Given the description of an element on the screen output the (x, y) to click on. 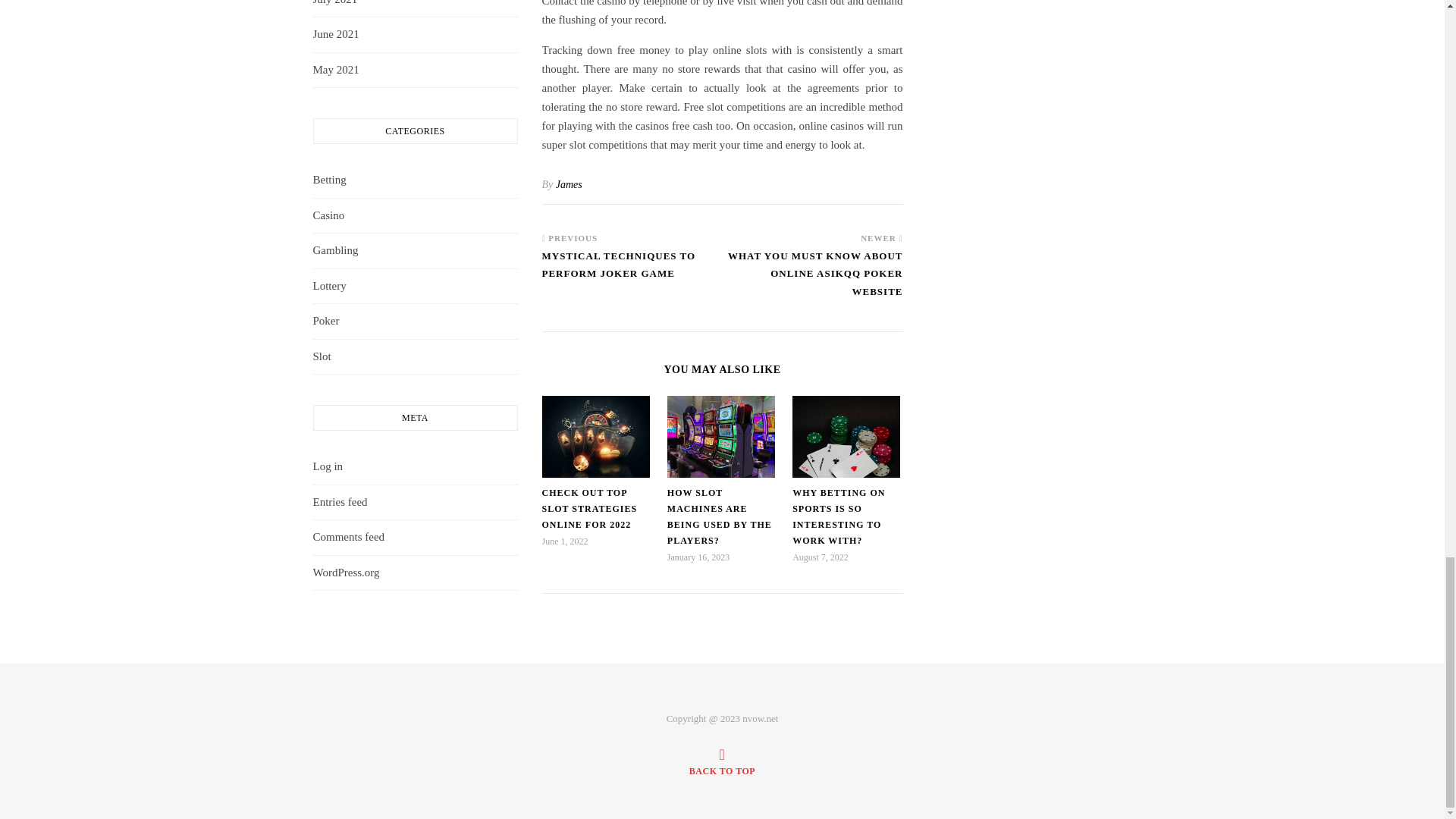
BACK TO TOP (722, 761)
What You Must Know About Online AsikQQ Poker Website (812, 280)
Mystical Techniques to perform Joker Game (631, 272)
Posts by James (569, 184)
